Given the description of an element on the screen output the (x, y) to click on. 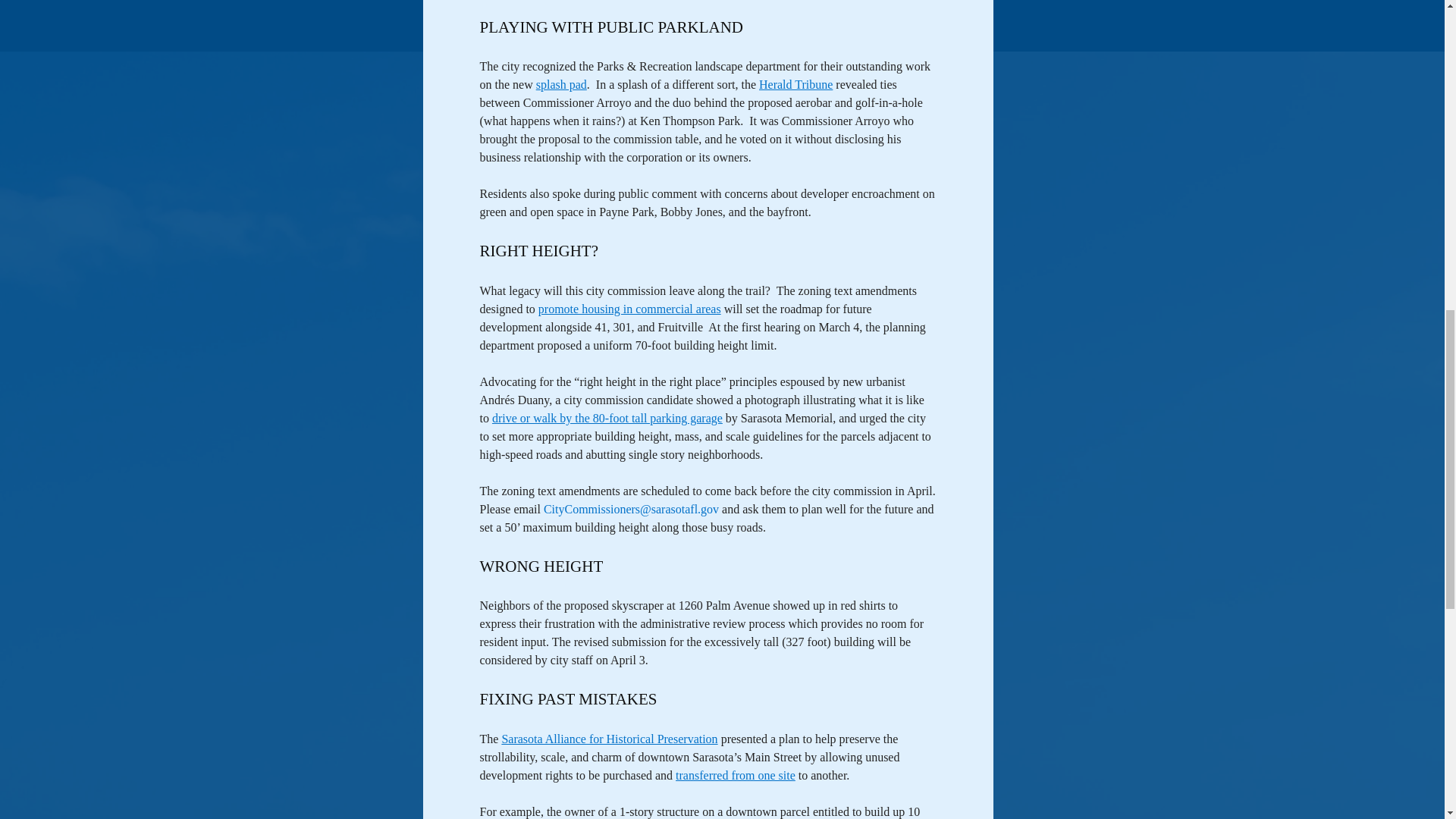
transferred from one site (734, 775)
drive or walk by the 80-foot tall parking garage (607, 418)
splash pad (560, 83)
promote housing in commercial areas (629, 308)
Herald Tribune (795, 83)
Sarasota Alliance for Historical Preservation (608, 738)
